Given the description of an element on the screen output the (x, y) to click on. 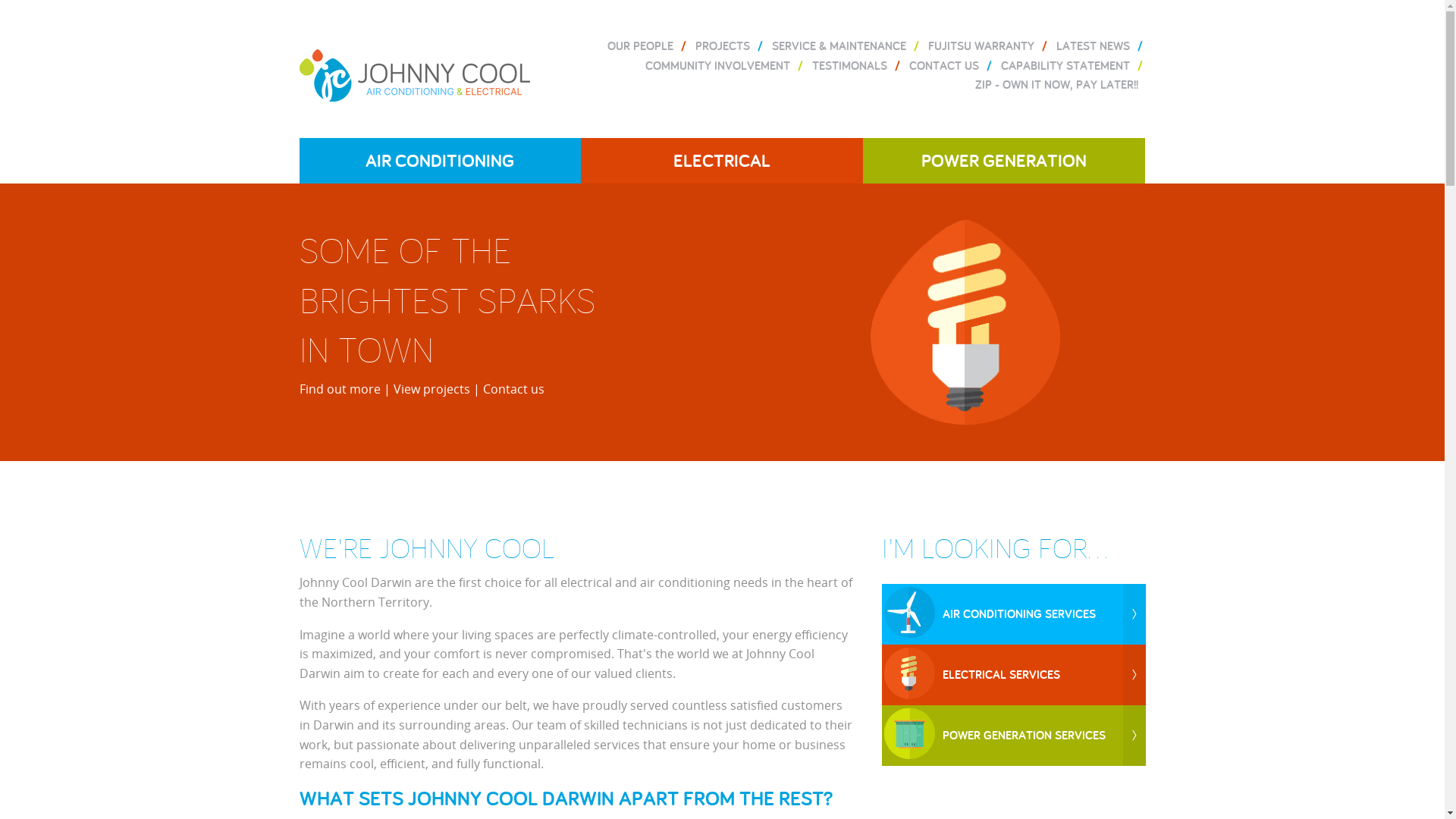
ELECTRICAL Element type: text (721, 160)
Skip to main content Element type: text (59, 0)
AIR CONDITIONING Element type: text (1013, 613)
ELECTRICAL Element type: text (1013, 674)
FUJITSU WARRANTY Element type: text (981, 45)
ELECTRICIAN DARWIN, AIR CONDITIONING DARWIN Element type: text (414, 66)
CONTACT US Element type: text (943, 65)
POWER GENERATION Element type: text (1003, 160)
ZIP - OWN IT NOW, PAY LATER!! Element type: text (1056, 84)
CAPABILITY STATEMENT Element type: text (1065, 65)
POWER GENERATION Element type: text (1013, 735)
Find out more Element type: text (338, 388)
AIR CONDITIONING Element type: text (439, 160)
Contact us Element type: text (512, 388)
TESTIMONALS Element type: text (848, 65)
PROJECTS Element type: text (721, 45)
SERVICE & MAINTENANCE Element type: text (838, 45)
OUR PEOPLE Element type: text (639, 45)
COMMUNITY INVOLVEMENT Element type: text (716, 65)
View projects Element type: text (430, 388)
LATEST NEWS Element type: text (1092, 45)
